Given the description of an element on the screen output the (x, y) to click on. 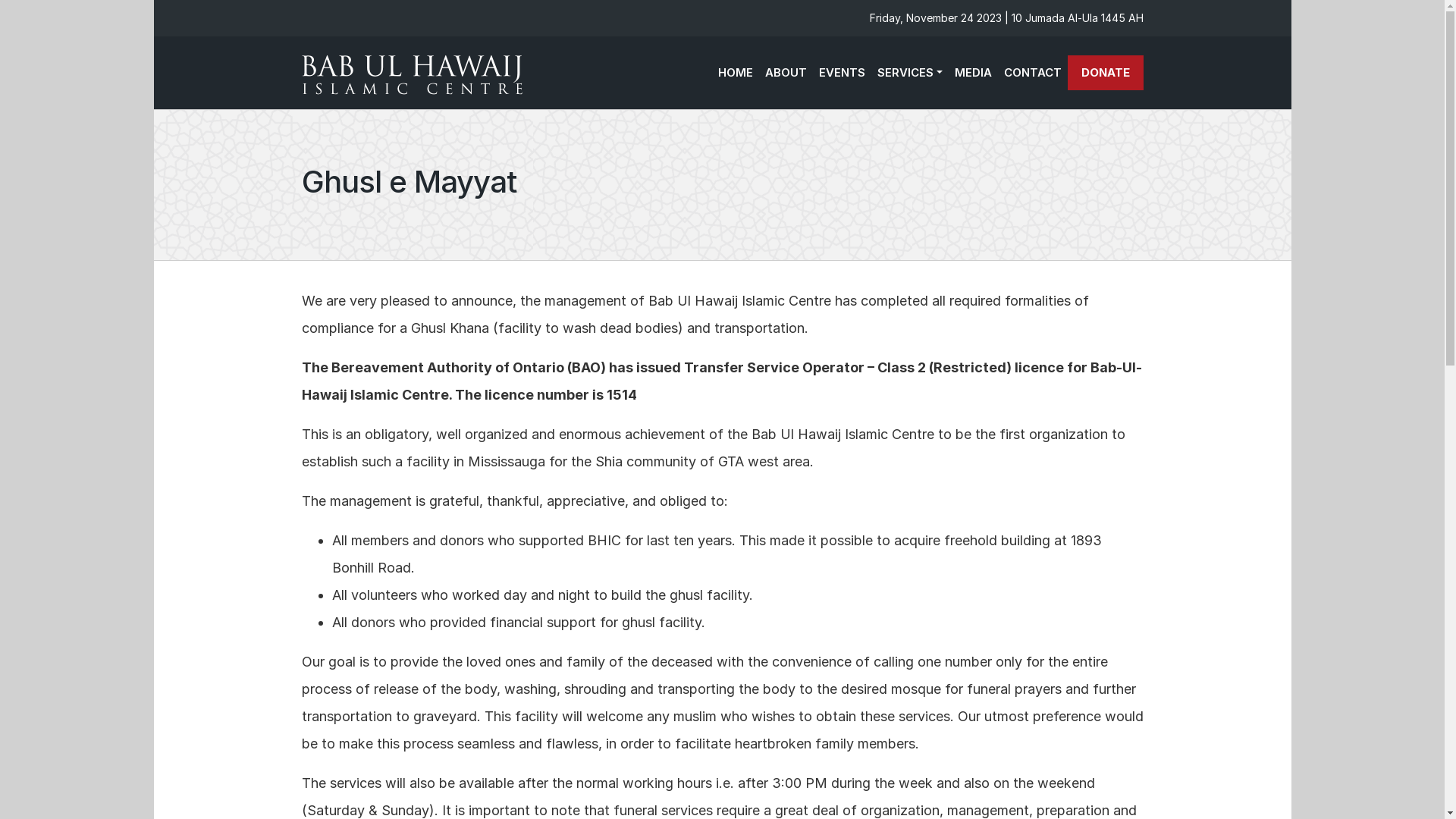
BHIC - Bab Ul Hawaij Islamic Centre Element type: hover (415, 72)
CONTACT Element type: text (1032, 72)
EVENTS Element type: text (841, 72)
SERVICES Element type: text (909, 72)
ABOUT Element type: text (785, 72)
MEDIA Element type: text (972, 72)
DONATE Element type: text (1105, 72)
HOME Element type: text (735, 72)
